Given the description of an element on the screen output the (x, y) to click on. 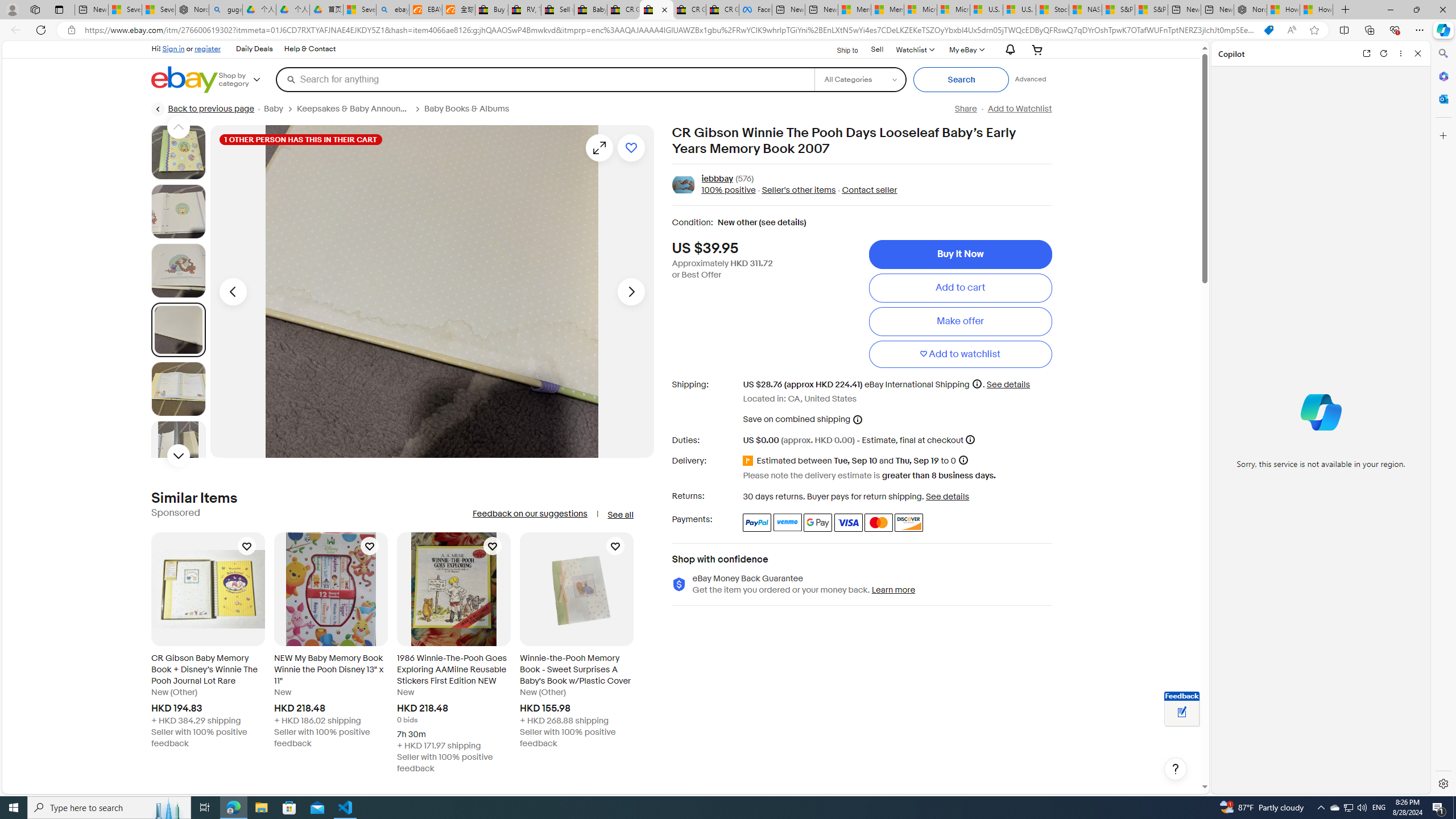
Ship to (839, 48)
Search for anything (544, 78)
Daily Deals (254, 49)
Picture 4 of 22 (177, 329)
Picture 6 of 22 (178, 448)
(576) (744, 179)
iebbbay (717, 179)
